Given the description of an element on the screen output the (x, y) to click on. 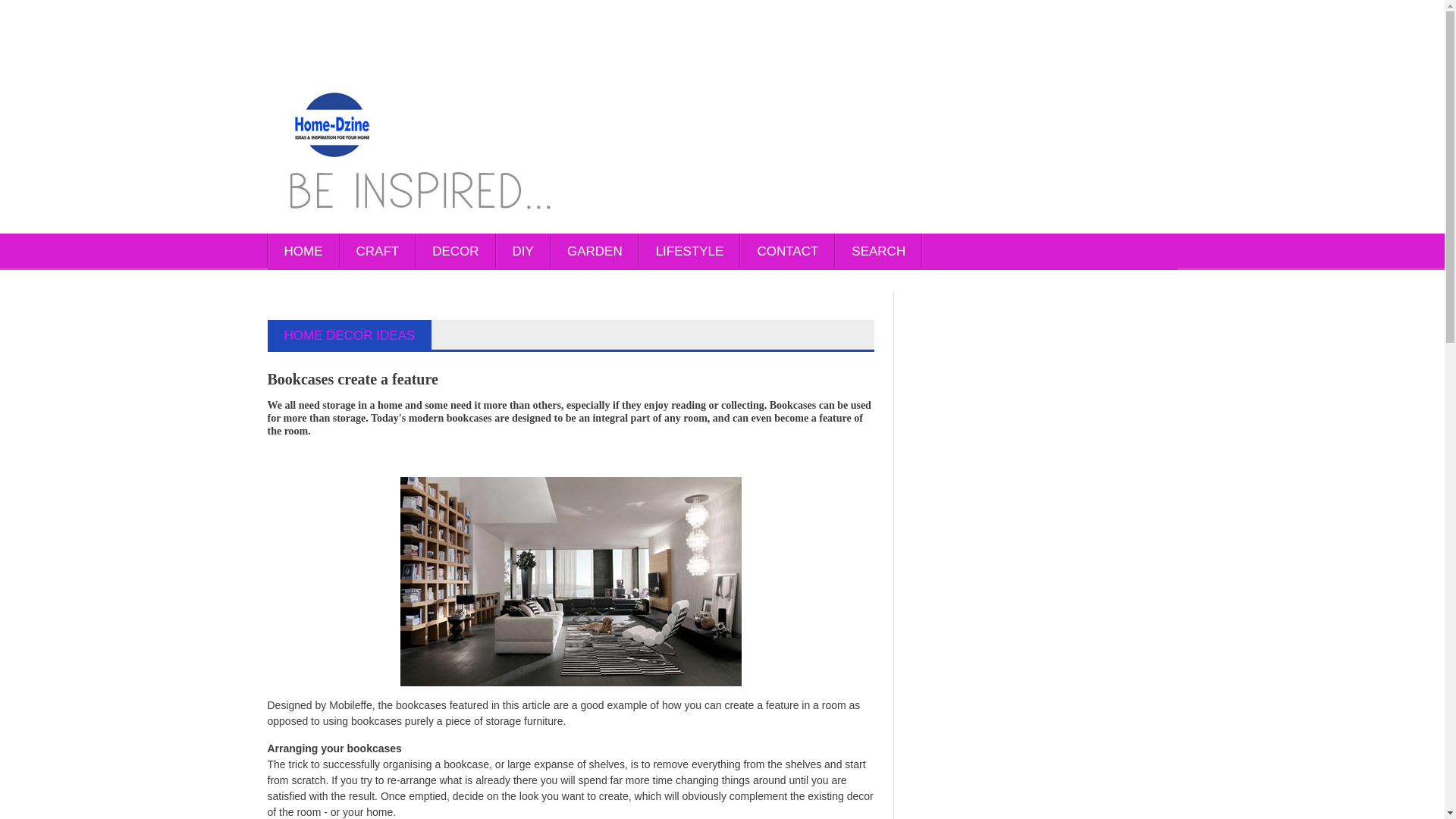
HOME DECOR IDEAS (348, 335)
DIY (523, 251)
DECOR (454, 251)
LIFESTYLE (690, 251)
CRAFT (377, 251)
SEARCH (877, 251)
GARDEN (594, 251)
HOME (302, 251)
CONTACT (786, 251)
